Given the description of an element on the screen output the (x, y) to click on. 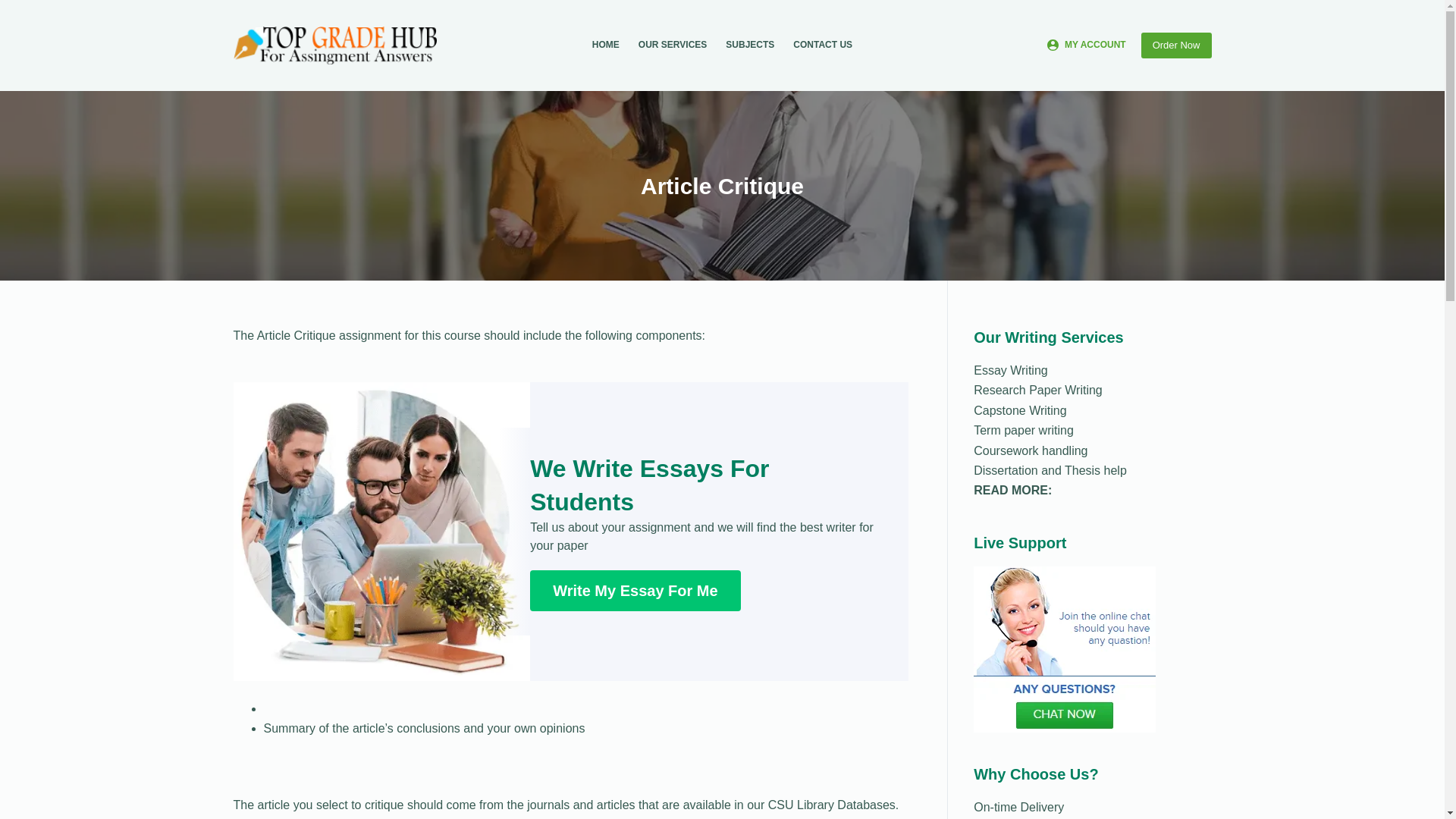
MY ACCOUNT (1085, 45)
HOME (605, 45)
Order Now (1176, 45)
Article Critique (722, 185)
CONTACT US (822, 45)
READ MORE: (1012, 490)
OUR SERVICES (672, 45)
Skip to content (15, 7)
SUBJECTS (750, 45)
Write My Essay For Me (634, 590)
